Given the description of an element on the screen output the (x, y) to click on. 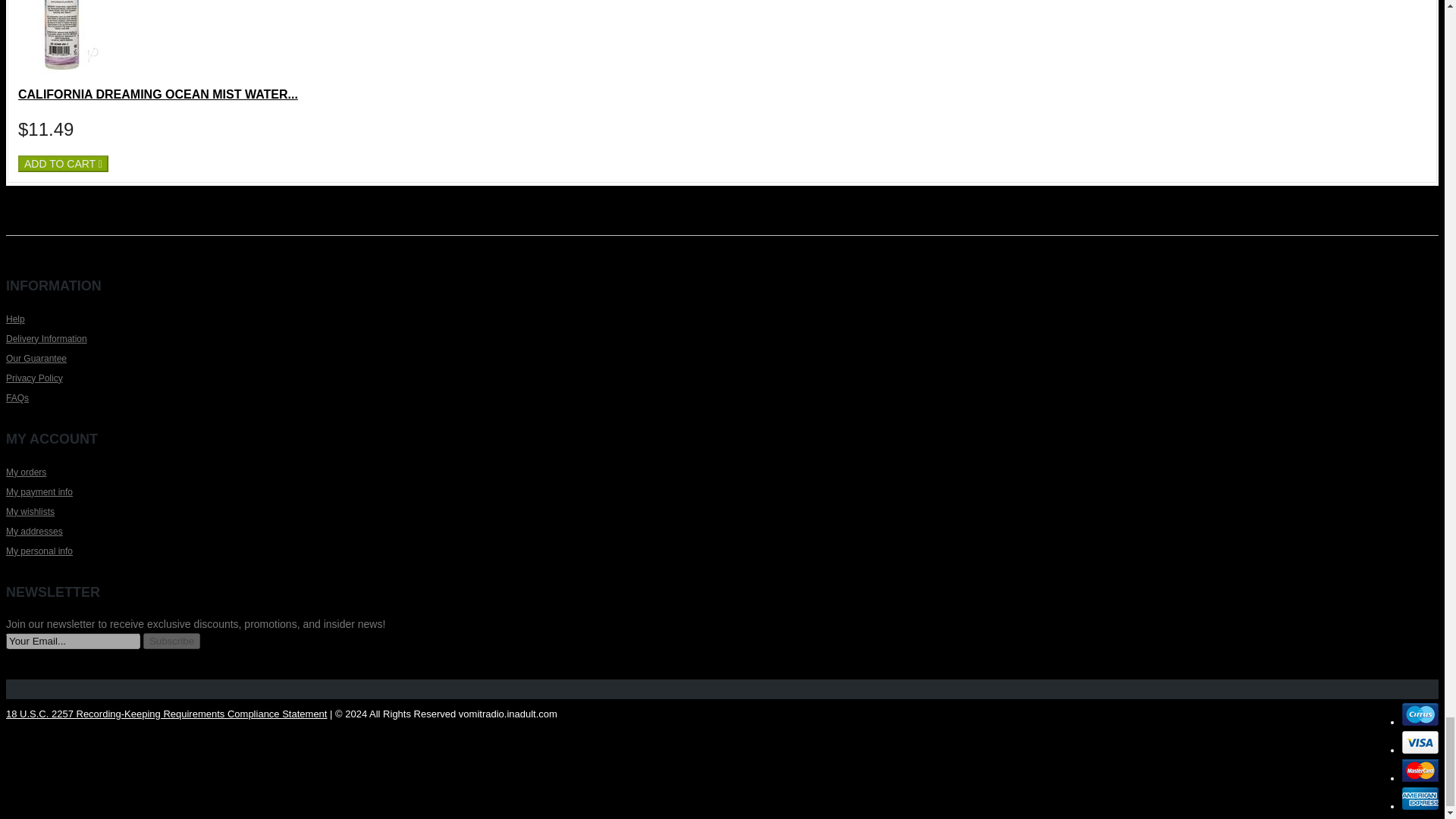
Your Email... (72, 641)
Subscribe (171, 641)
